Given the description of an element on the screen output the (x, y) to click on. 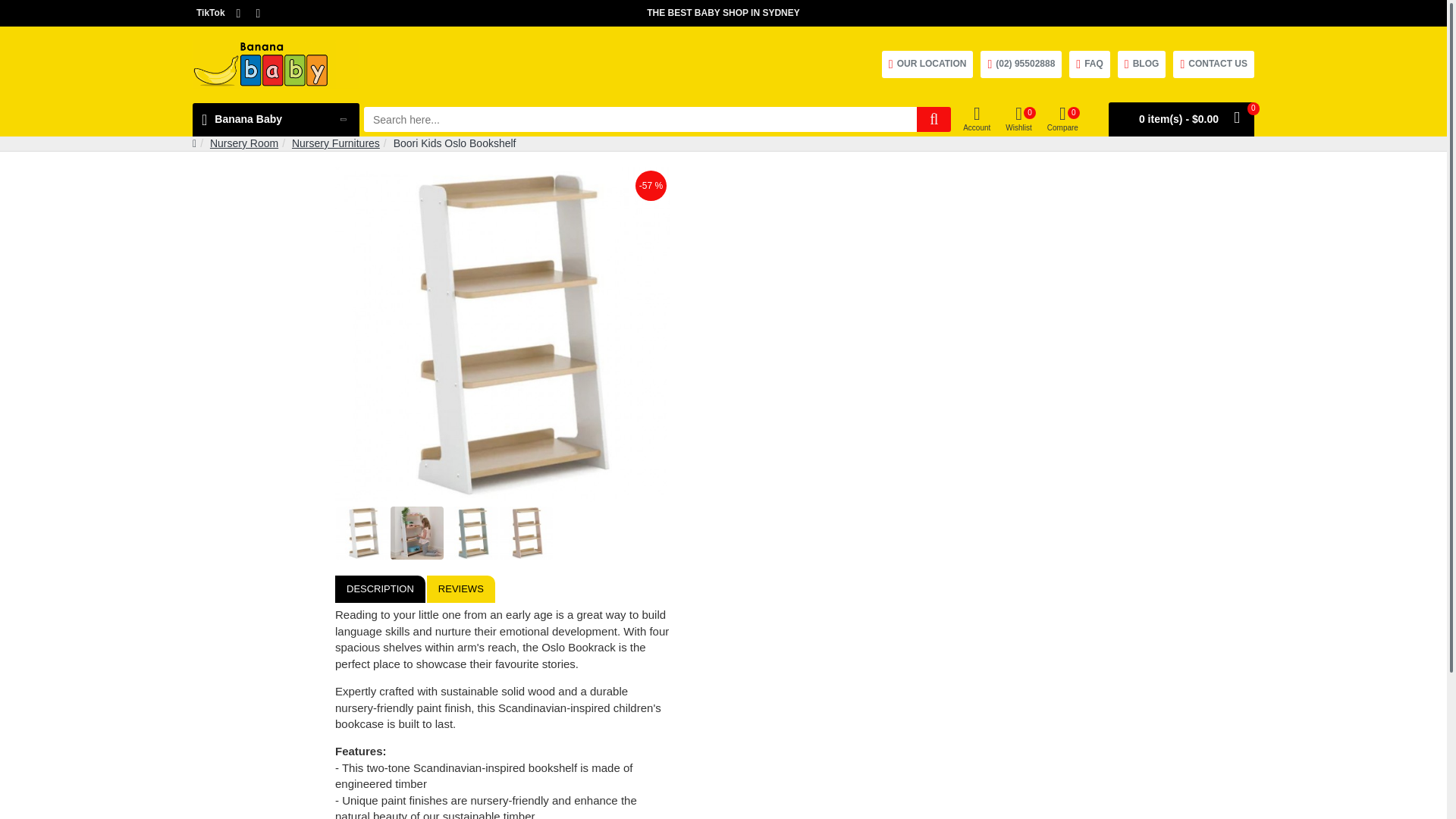
Boori Kids Oslo Bookshelf (471, 533)
OUR LOCATION (928, 63)
THE BEST BABY SHOP IN SYDNEY (723, 13)
Banana Baby (275, 119)
CONTACT US (1213, 63)
Banana Baby (275, 64)
Boori Kids Oslo Bookshelf (501, 334)
BLOG (1142, 63)
Boori Kids Oslo Bookshelf (526, 533)
FAQ (1088, 63)
